Given the description of an element on the screen output the (x, y) to click on. 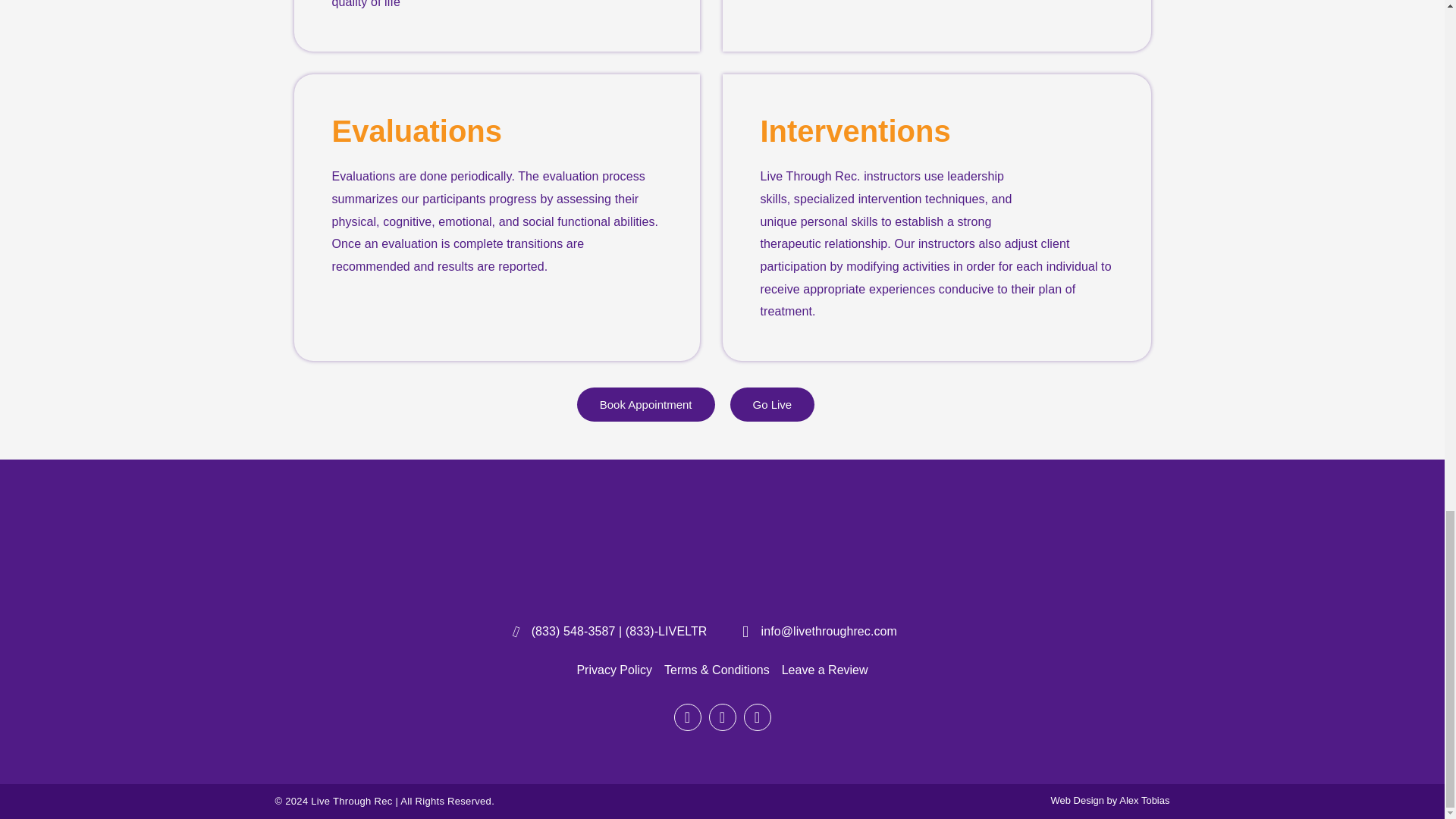
Book Appointment (645, 404)
Privacy Policy (614, 670)
Go Live (771, 404)
Web Design by Alex Tobias (1109, 799)
Leave a Review (824, 670)
